Given the description of an element on the screen output the (x, y) to click on. 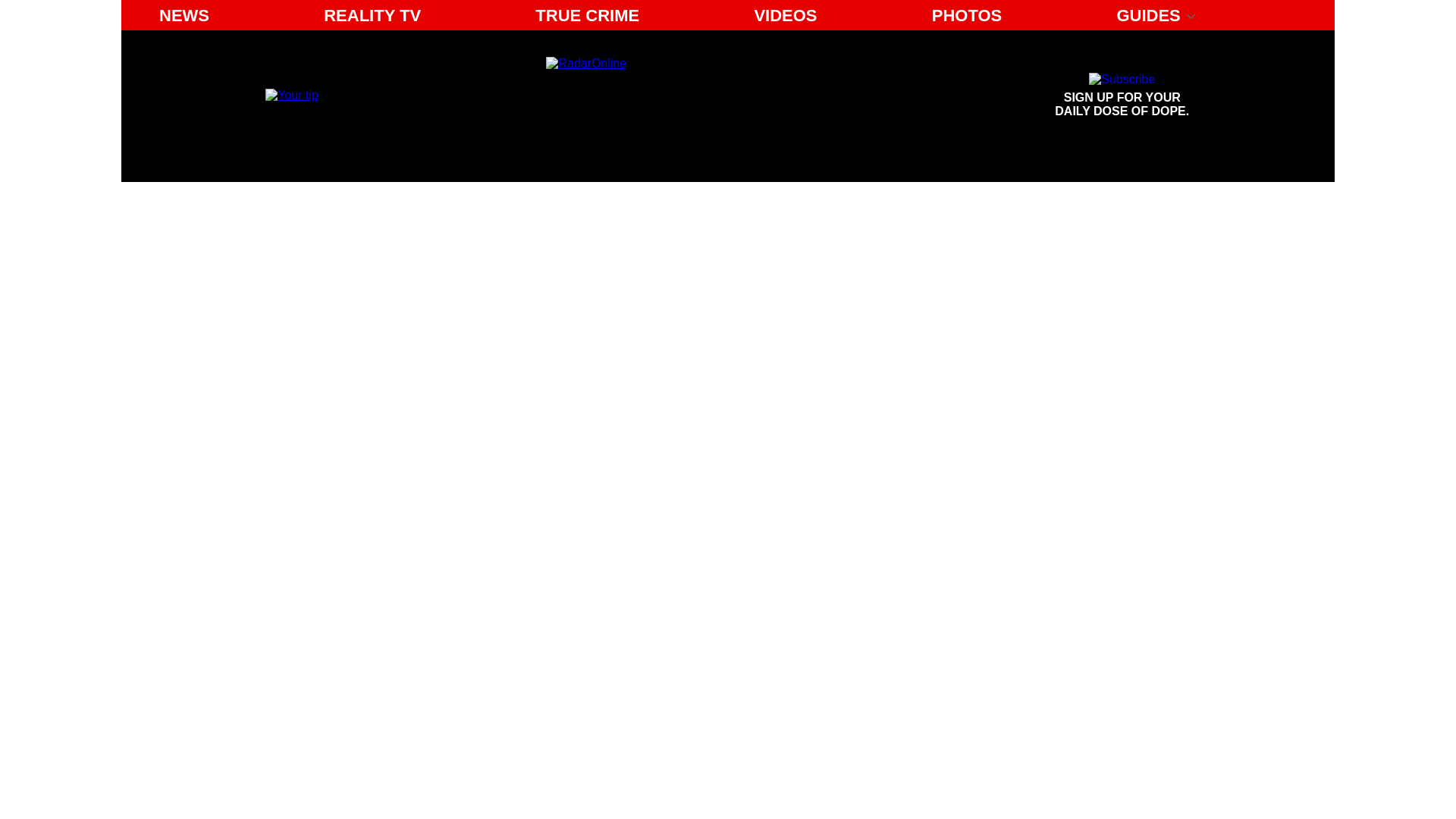
NEWS (183, 15)
TRUE CRIME (586, 15)
Sign up for your daily dose of dope. (1122, 94)
Email us your tip (291, 94)
Radar Online (1122, 94)
PHOTOS (685, 95)
VIDEOS (967, 15)
REALITY TV (784, 15)
